Given the description of an element on the screen output the (x, y) to click on. 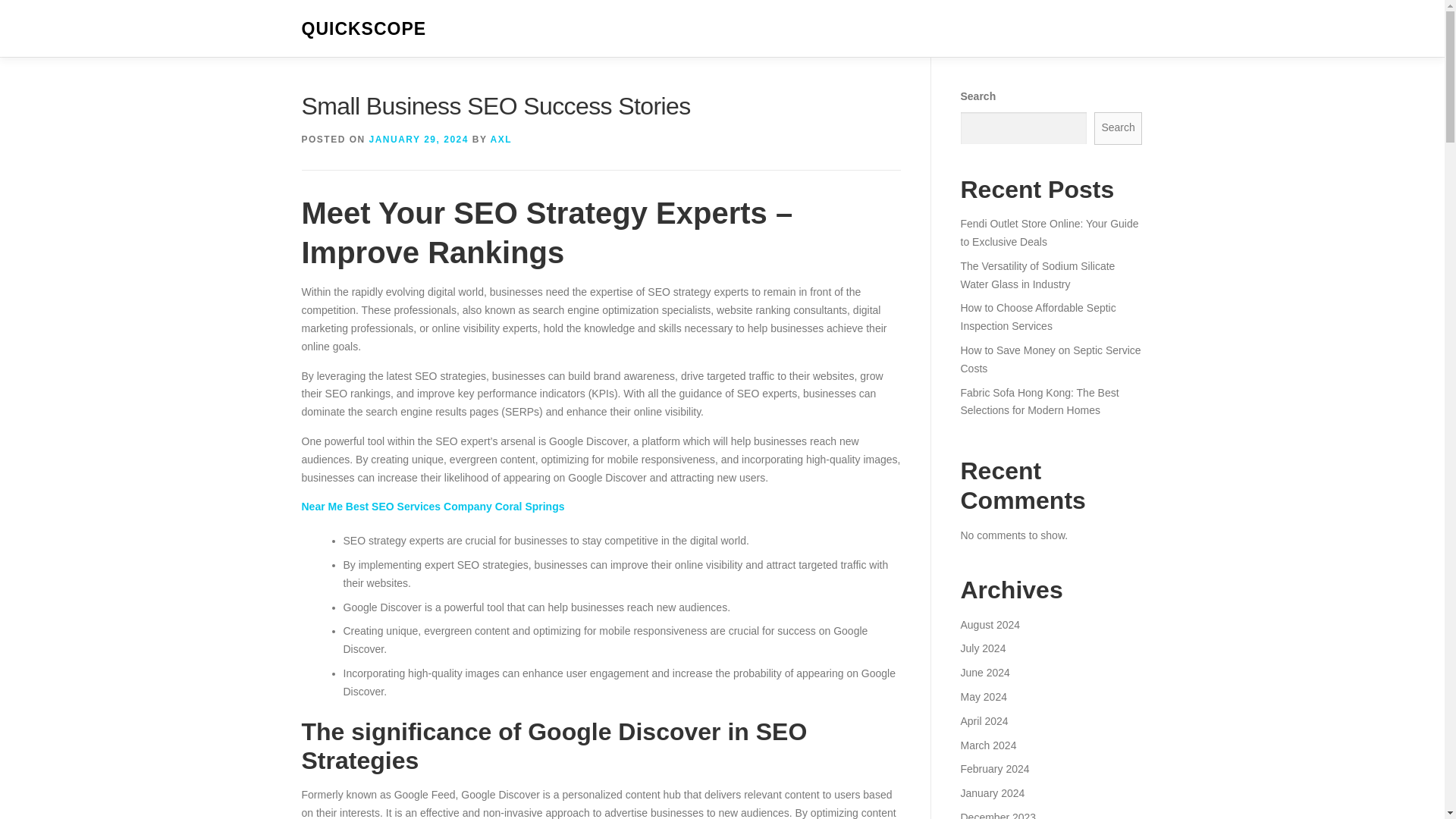
July 2024 (982, 648)
AXL (501, 139)
Fabric Sofa Hong Kong: The Best Selections for Modern Homes (1038, 401)
March 2024 (987, 744)
August 2024 (989, 624)
JANUARY 29, 2024 (418, 139)
April 2024 (983, 720)
February 2024 (994, 768)
Near Me Best SEO Services Company Coral Springs (432, 506)
The Versatility of Sodium Silicate Water Glass in Industry (1037, 275)
